Given the description of an element on the screen output the (x, y) to click on. 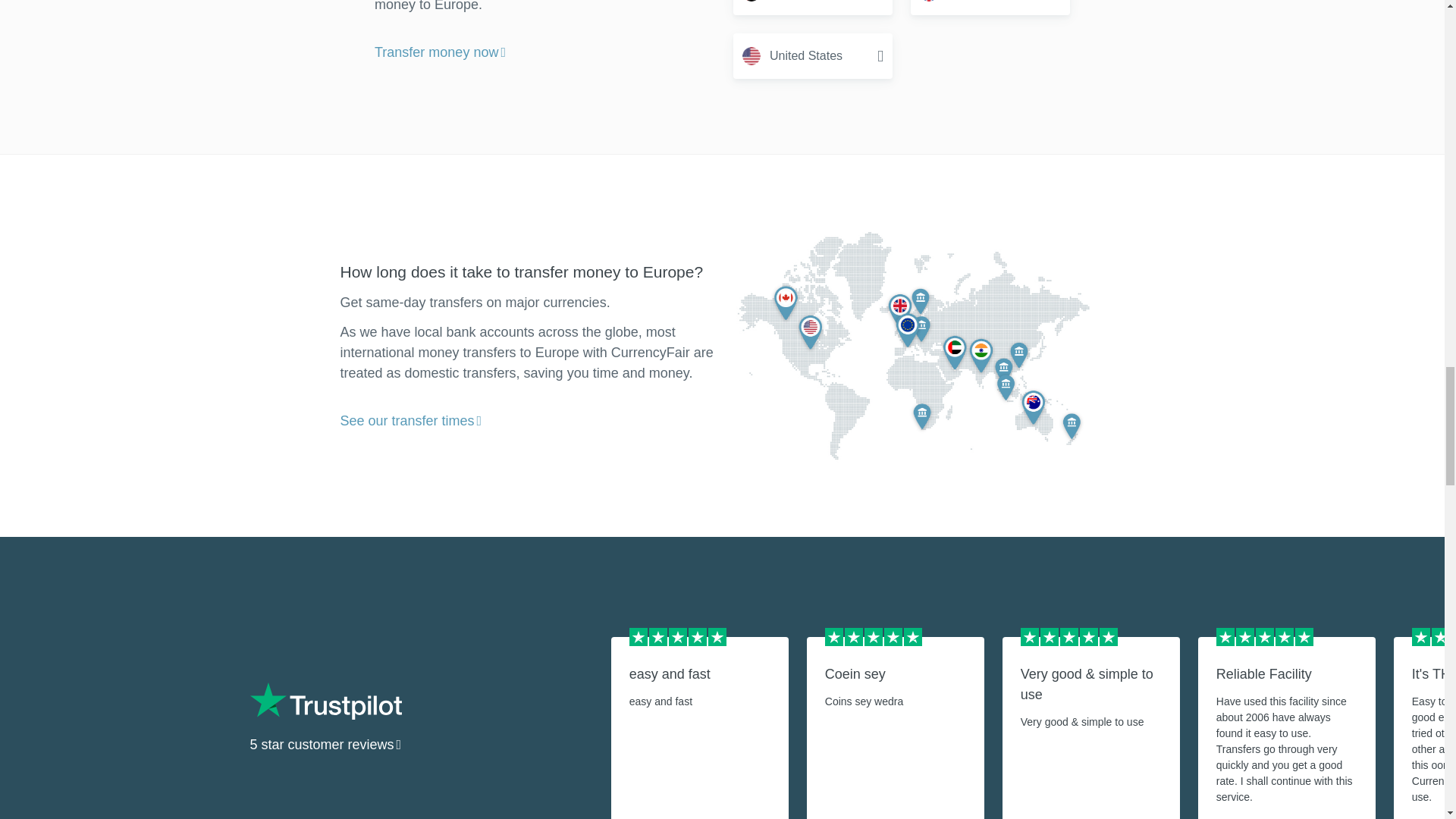
Transfer money now (439, 52)
United Arab Emirates (812, 7)
